Given the description of an element on the screen output the (x, y) to click on. 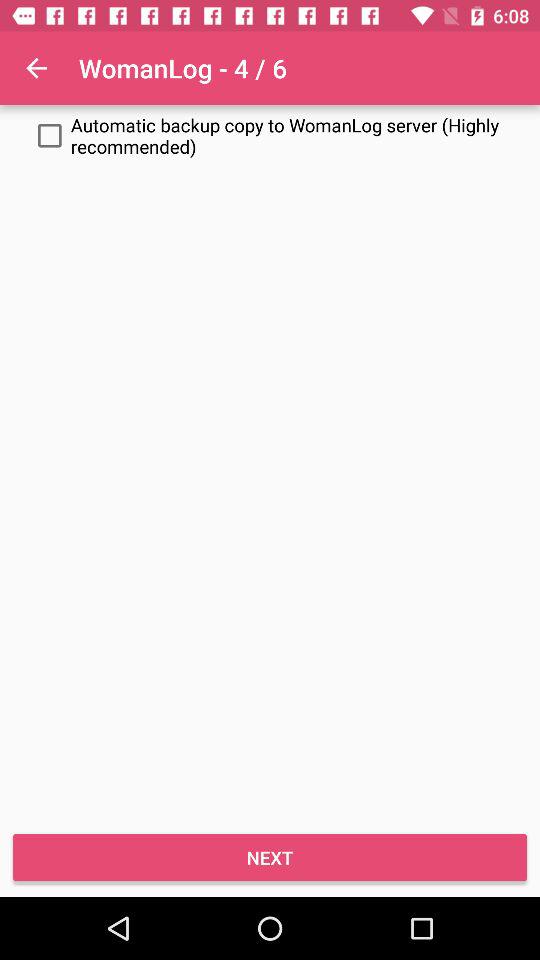
swipe to automatic backup copy (269, 135)
